Given the description of an element on the screen output the (x, y) to click on. 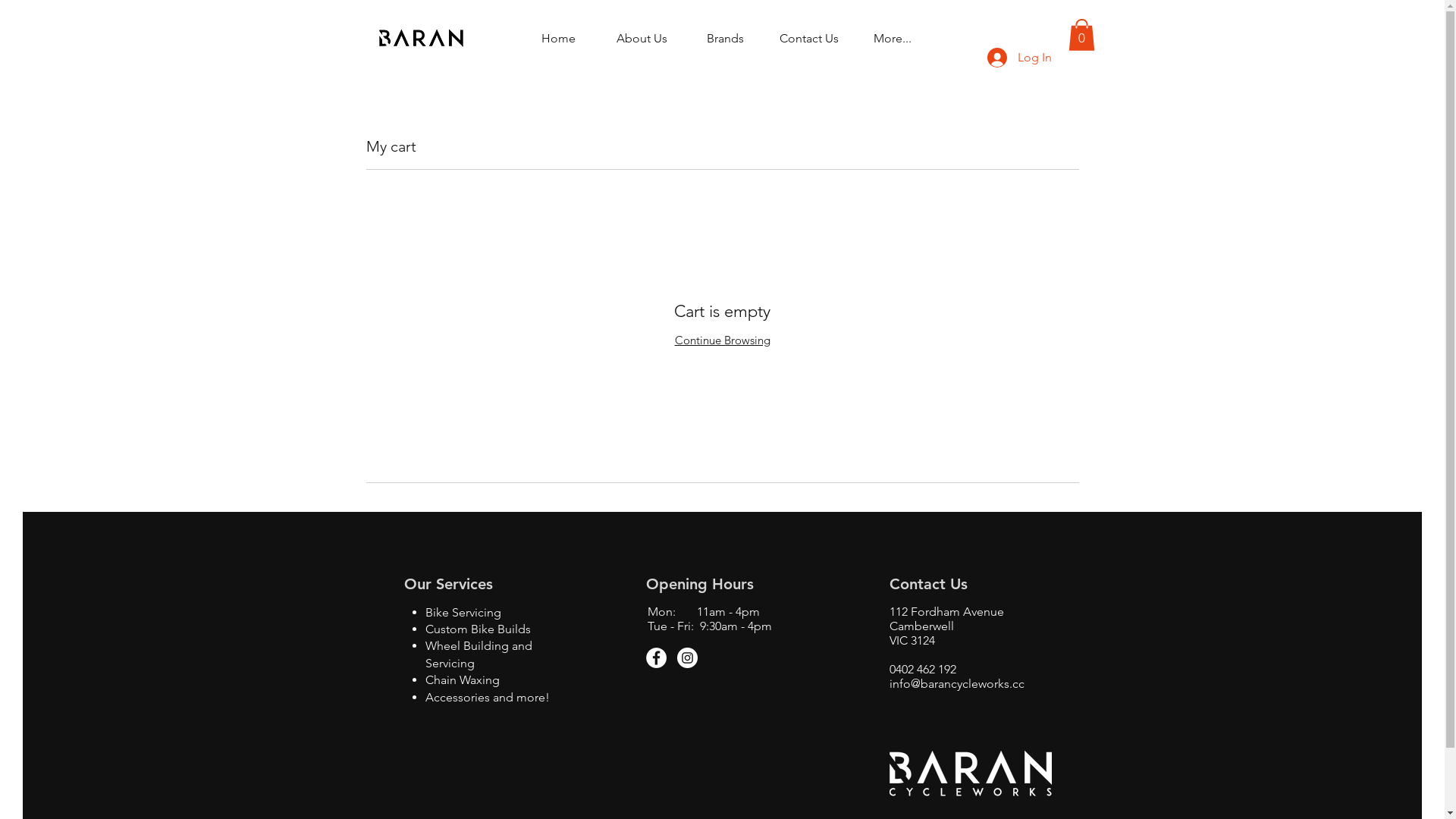
Home Element type: text (558, 38)
Contact Us Element type: text (808, 38)
Brands Element type: text (725, 38)
Continue Browsing Element type: text (722, 339)
0 Element type: text (1080, 34)
About Us Element type: text (642, 38)
Log In Element type: text (1019, 57)
BARAN-logo-black.jpg Element type: hover (421, 36)
